Given the description of an element on the screen output the (x, y) to click on. 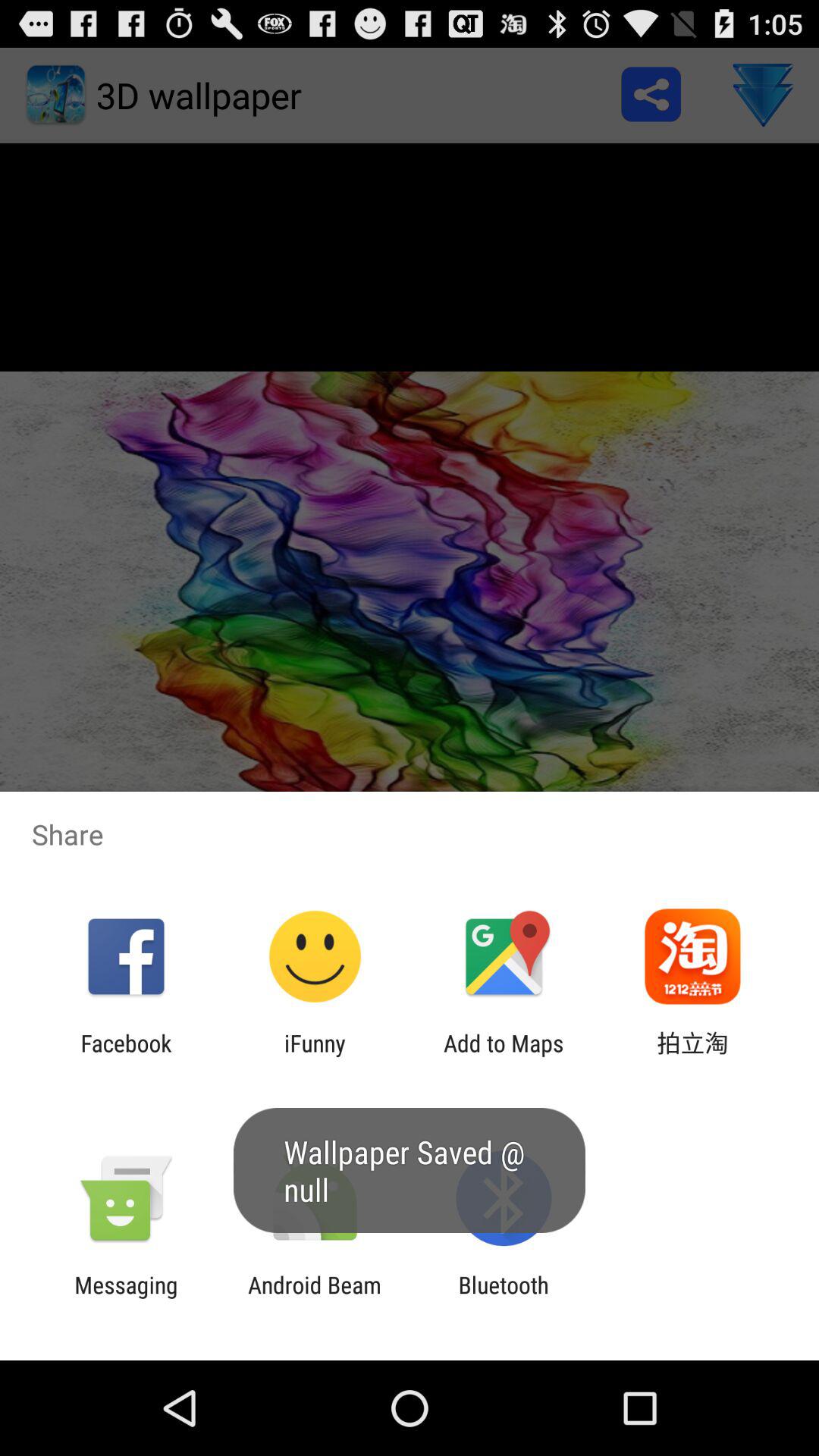
open app to the right of the facebook app (314, 1056)
